Given the description of an element on the screen output the (x, y) to click on. 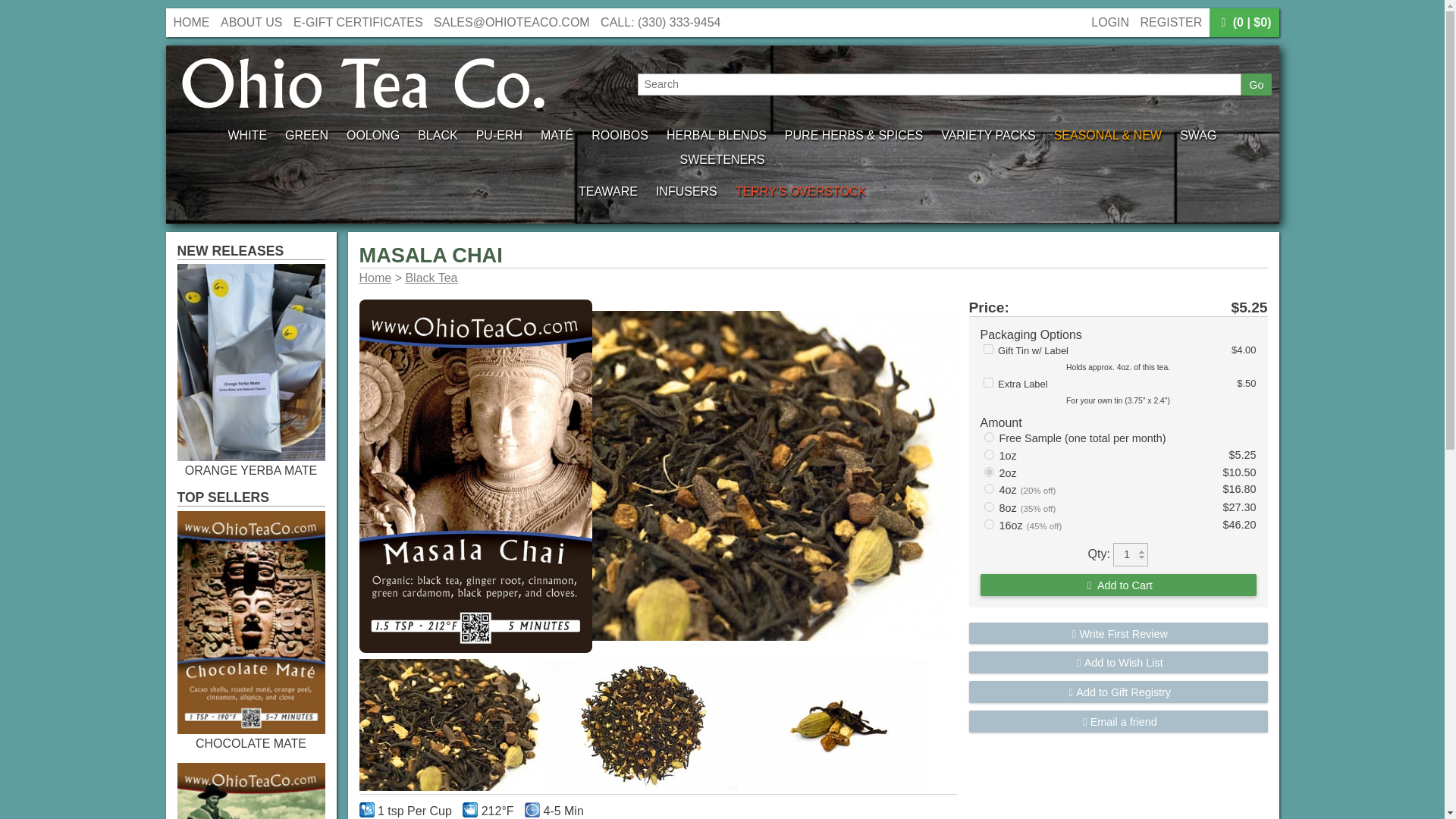
Chocolate Mate (250, 729)
15090 (989, 471)
15089 (989, 454)
15094 (989, 437)
15092 (989, 506)
15091 (989, 488)
15093 (989, 524)
Orange Yerba Mate (250, 456)
10112 (987, 382)
10111 (987, 348)
